Given the description of an element on the screen output the (x, y) to click on. 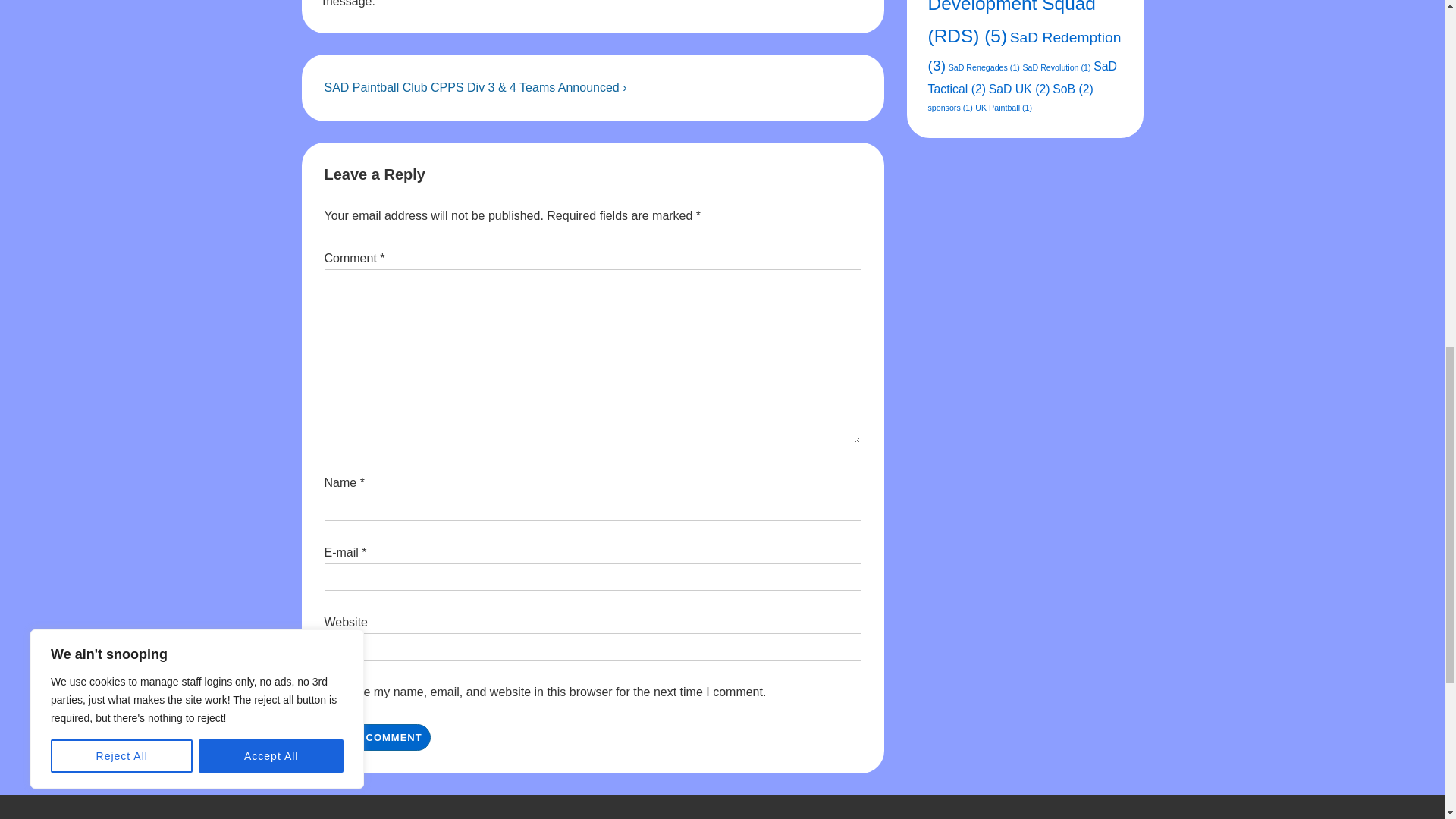
Post Comment (377, 737)
yes (332, 691)
Post Comment (377, 737)
